Given the description of an element on the screen output the (x, y) to click on. 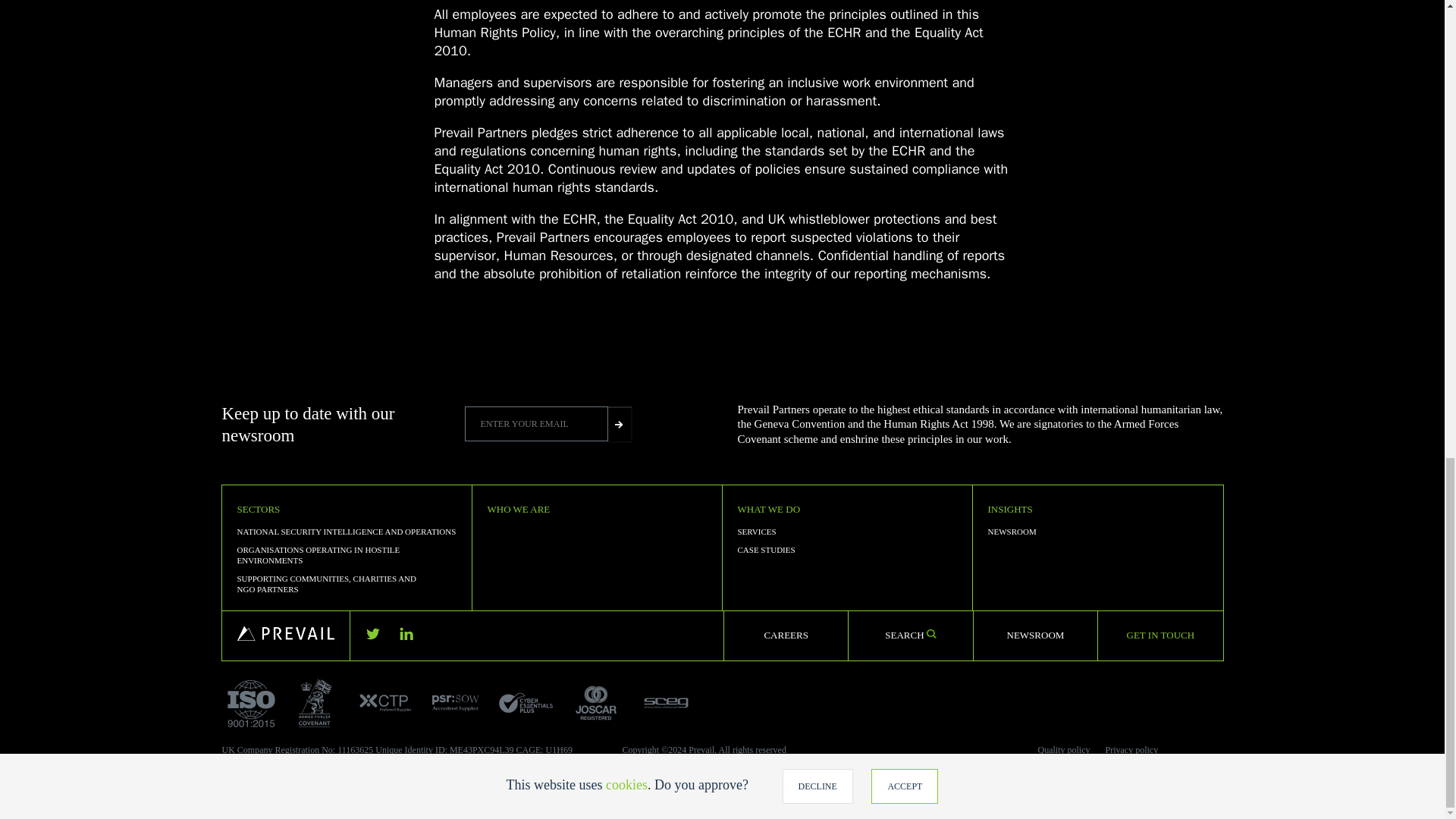
Quality policy (1062, 749)
Twitter (372, 633)
CASE STUDIES (765, 549)
ORGANISATIONS OPERATING IN HOSTILE ENVIRONMENTS (316, 555)
SEARCH (910, 634)
CAREERS (785, 634)
SUPPORTING COMMUNITIES, CHARITIES AND NGO PARTNERS (324, 583)
SECTORS (257, 509)
WHO WE ARE (518, 509)
GET IN TOUCH (1160, 634)
SERVICES (756, 531)
NEWSROOM (1011, 531)
INSIGHTS (1009, 509)
NEWSROOM (1035, 634)
NATIONAL SECURITY INTELLIGENCE AND OPERATIONS (345, 531)
